Given the description of an element on the screen output the (x, y) to click on. 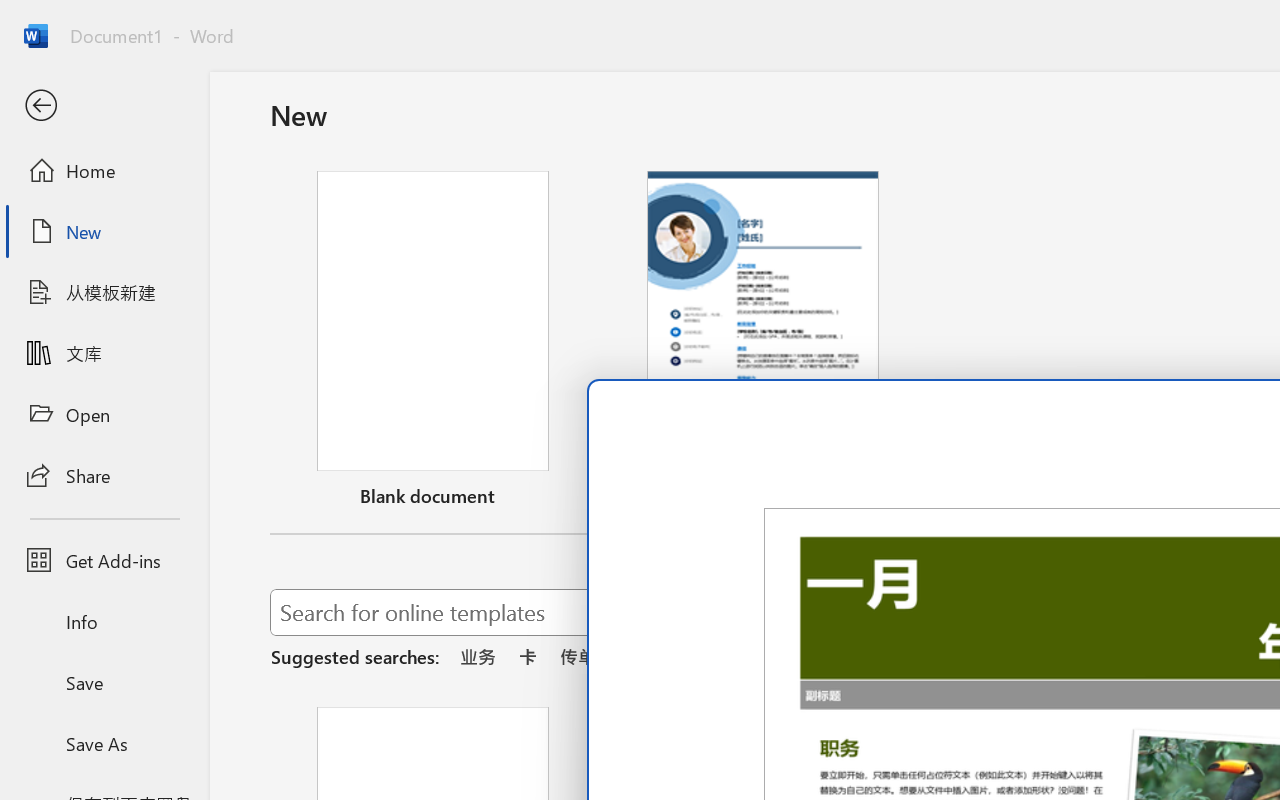
Save As (104, 743)
New (104, 231)
Back (104, 106)
Info (104, 621)
Get Add-ins (104, 560)
